Given the description of an element on the screen output the (x, y) to click on. 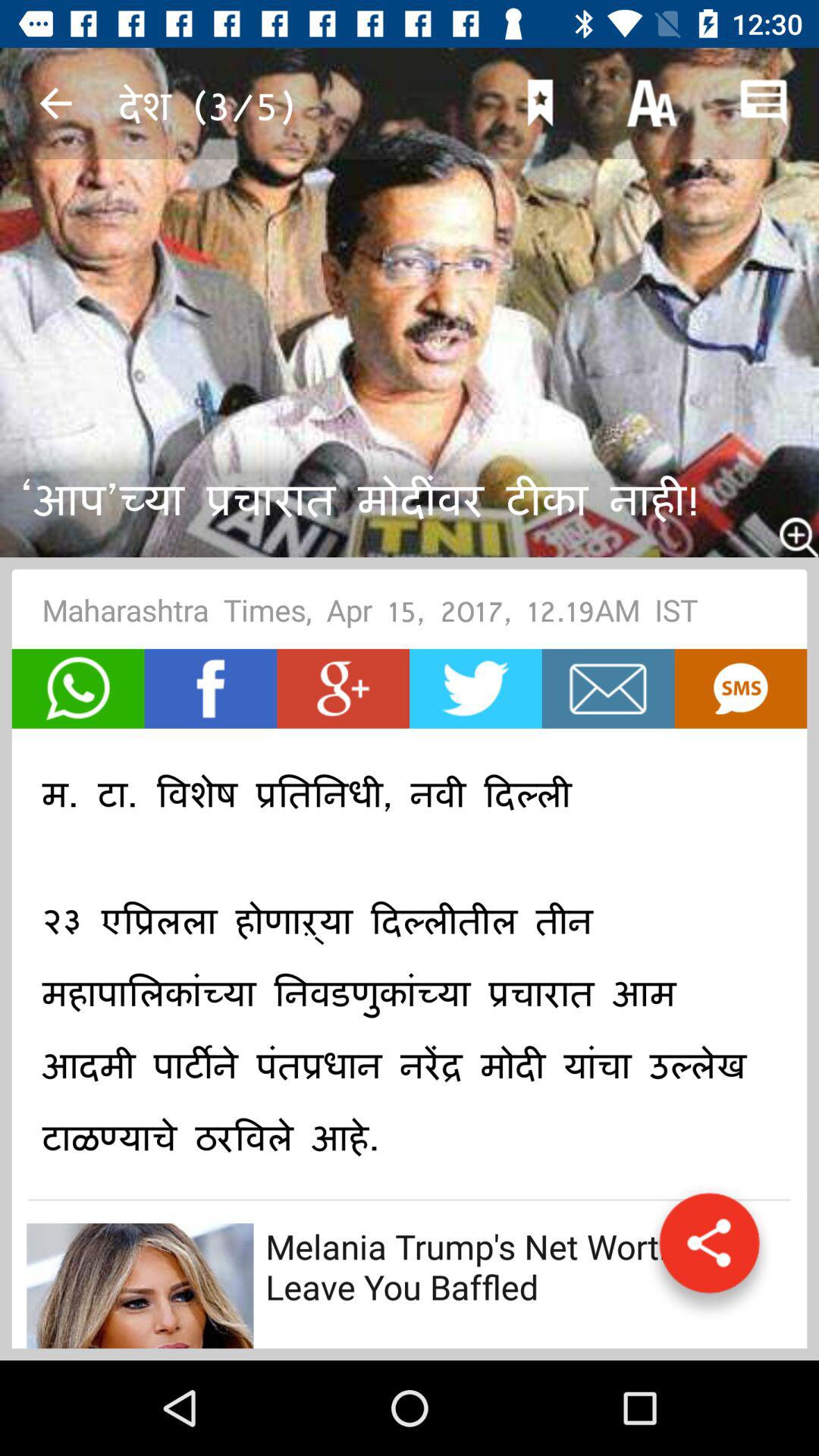
choose item below maharashtra times apr icon (210, 688)
